Given the description of an element on the screen output the (x, y) to click on. 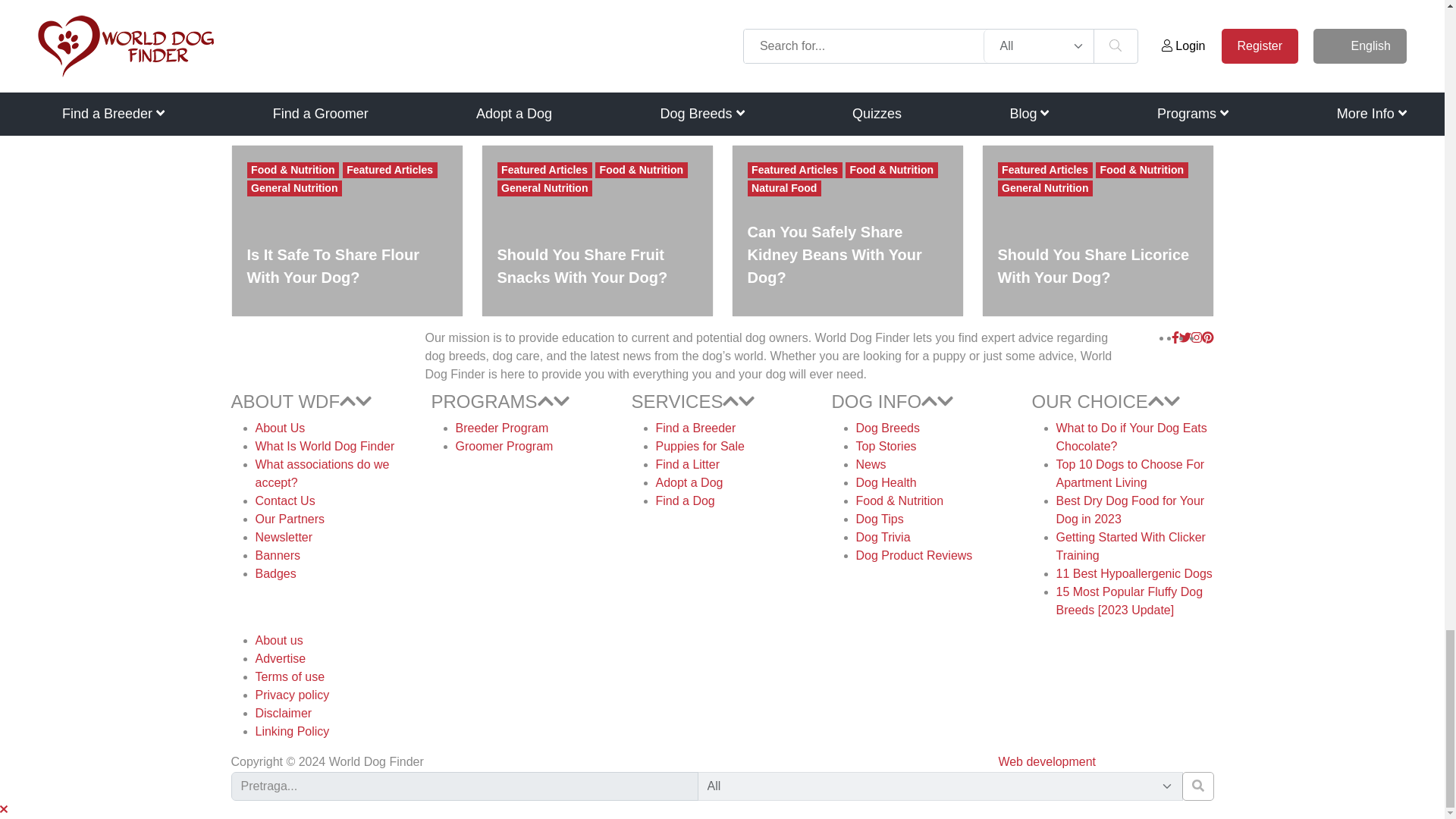
Share (328, 92)
Tweet (329, 47)
Share on pinterest (329, 69)
Share on Facebook (327, 24)
